Given the description of an element on the screen output the (x, y) to click on. 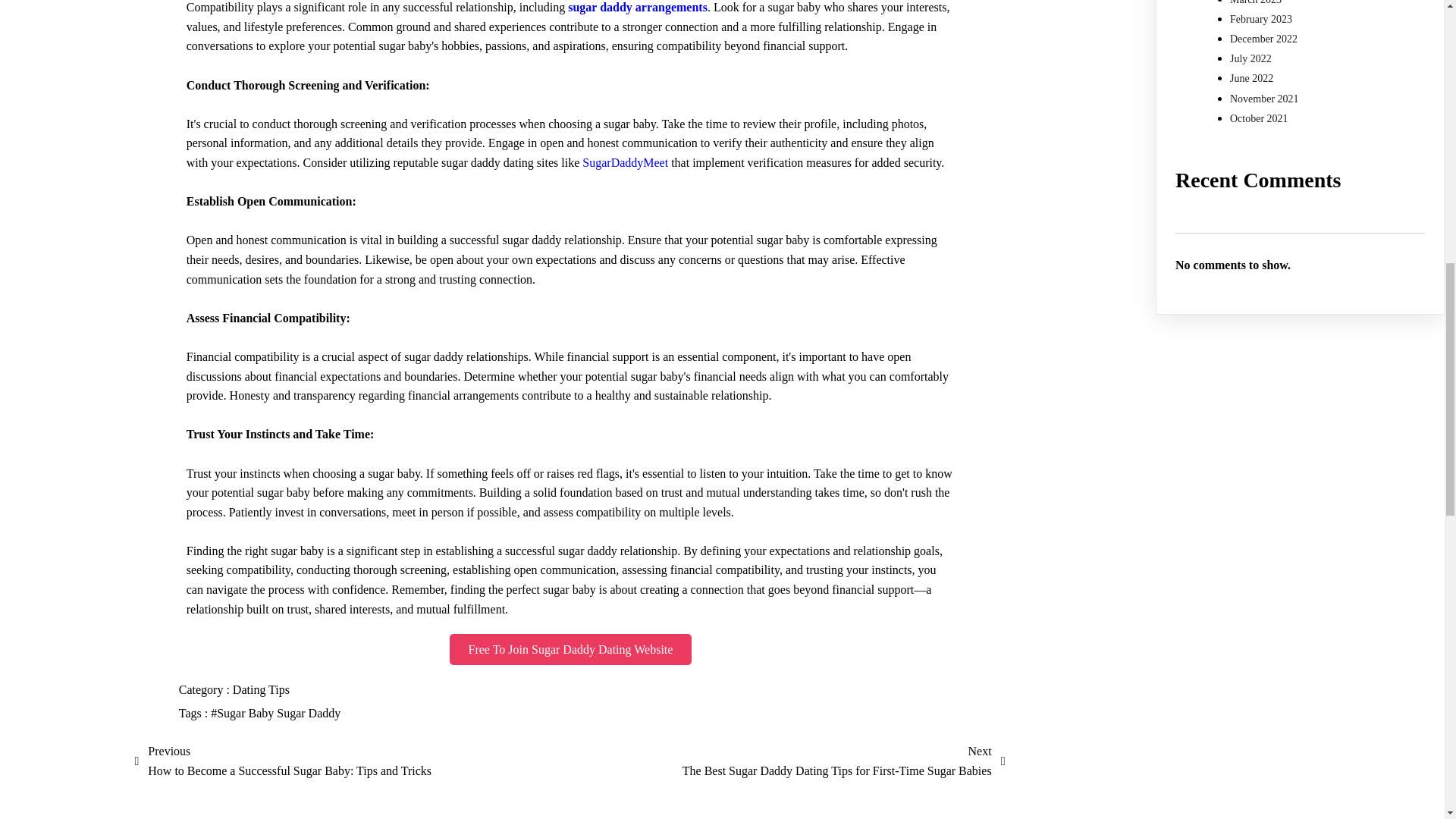
Free To Join Sugar Daddy Dating Website (571, 649)
sugar daddy arrangements (637, 6)
July 2022 (1250, 58)
Sugar Daddy (308, 712)
February 2023 (1261, 19)
June 2022 (1251, 78)
March 2023 (1255, 2)
November 2021 (1264, 98)
SugarDaddyMeet (625, 162)
